Given the description of an element on the screen output the (x, y) to click on. 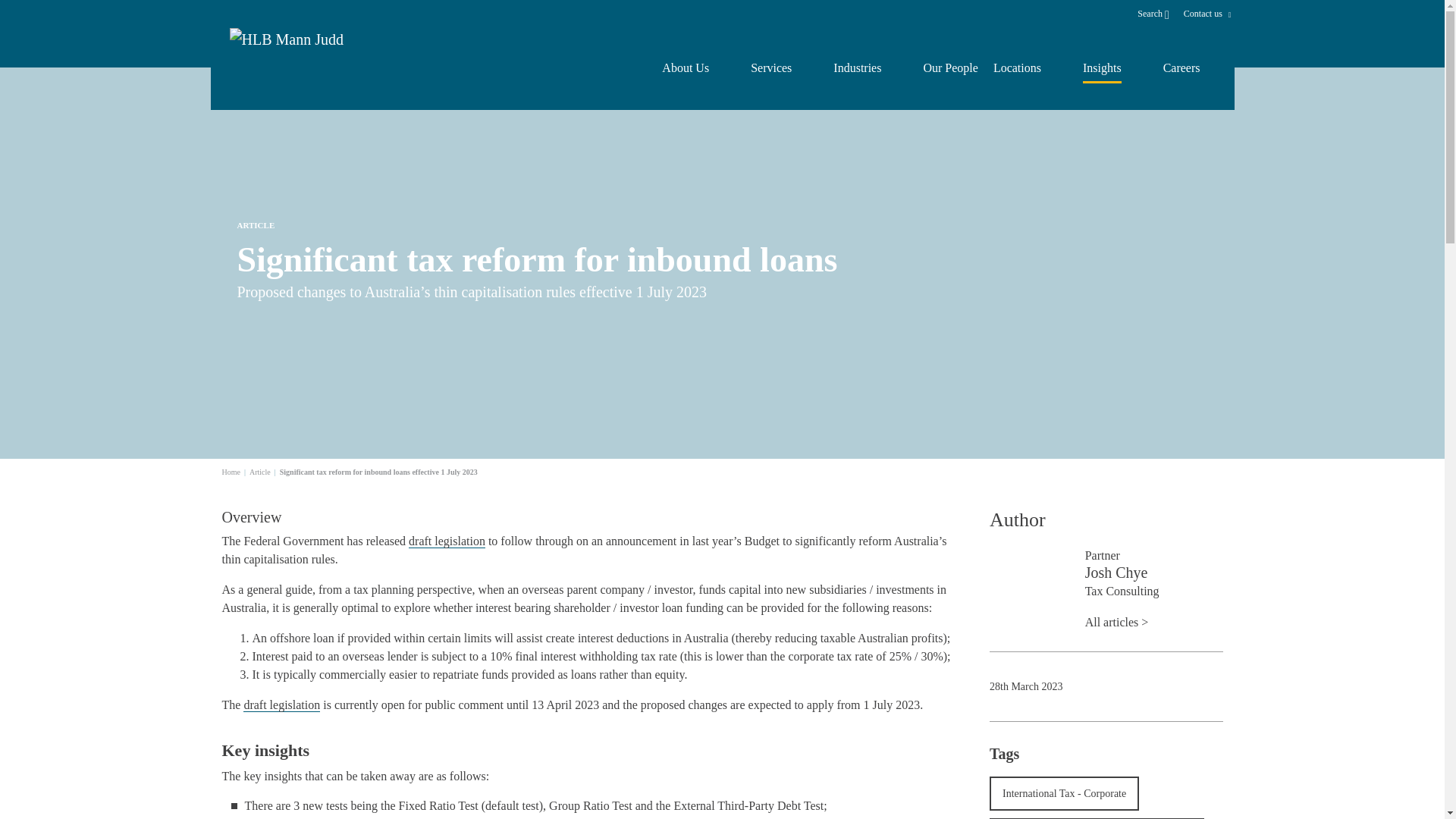
Services (771, 68)
Contact us (1204, 13)
About Us (685, 68)
Home (230, 471)
Search (1158, 13)
